Given the description of an element on the screen output the (x, y) to click on. 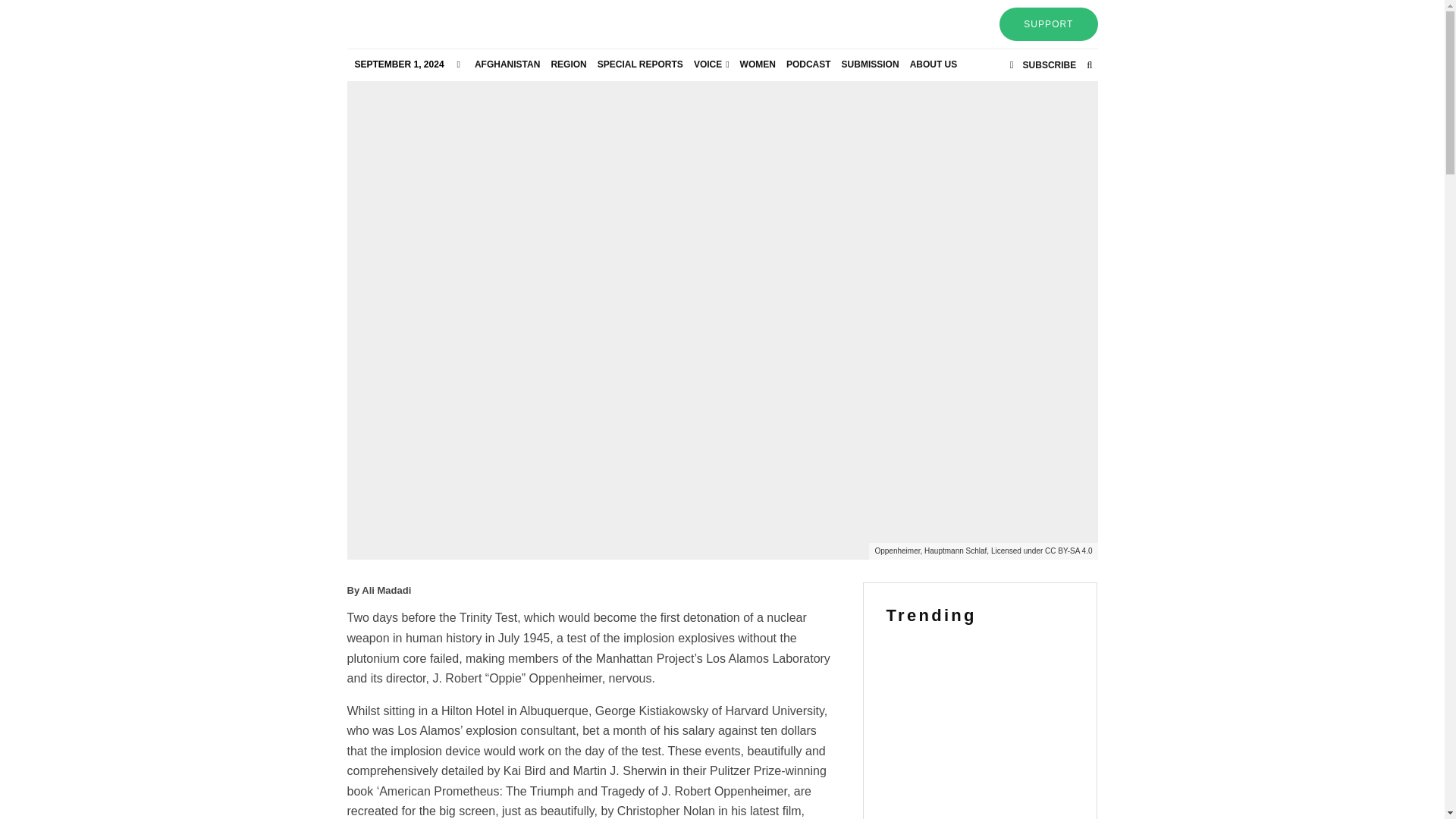
SPECIAL REPORTS (640, 64)
REGION (567, 64)
AFGHANISTAN (506, 64)
SUPPORT (1047, 23)
